Given the description of an element on the screen output the (x, y) to click on. 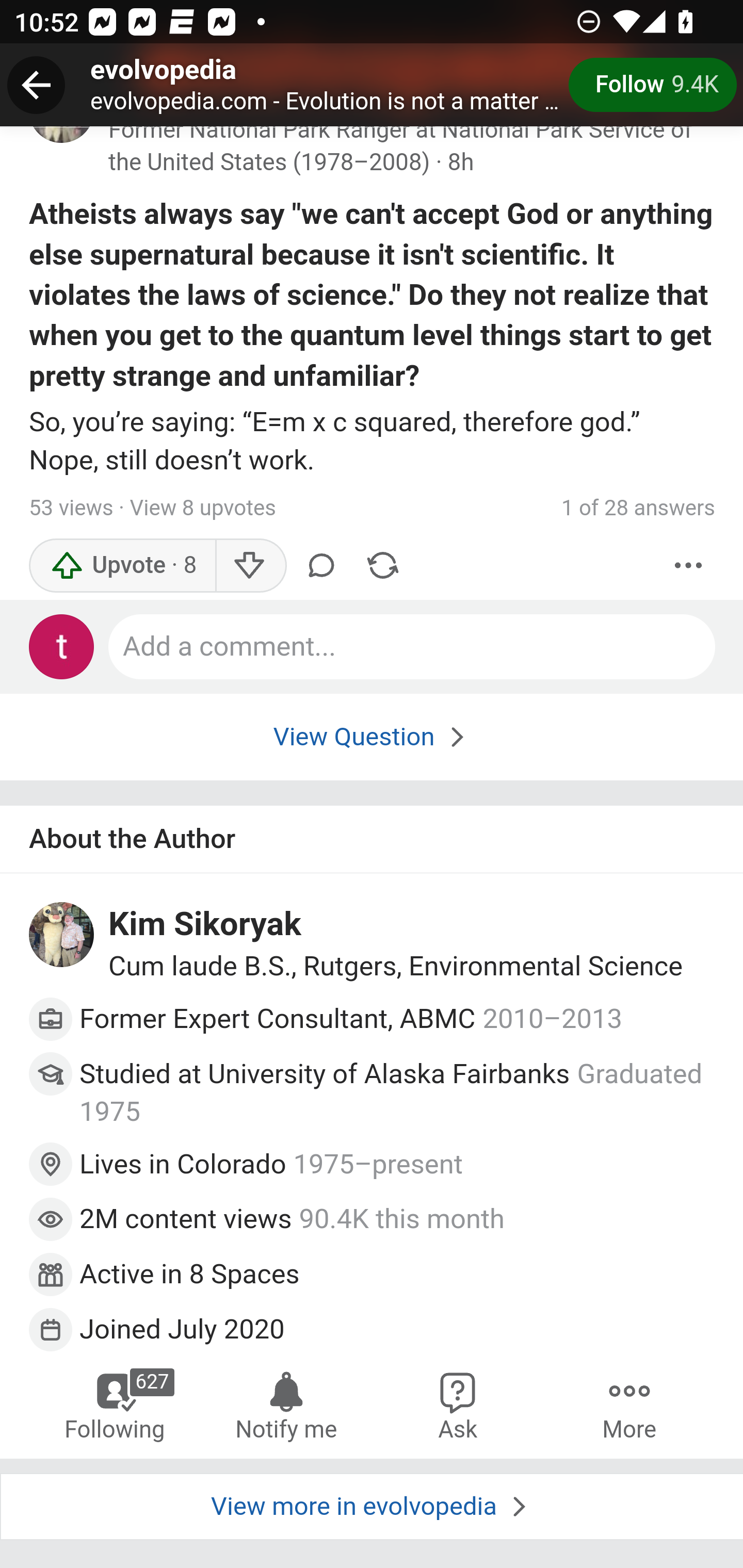
evolvopedia (164, 70)
Follow 9.4K (652, 85)
View 8 upvotes (201, 508)
1 of 28 answers (637, 508)
Upvote (122, 565)
Downvote (249, 565)
Comment (321, 565)
Share (382, 565)
More (688, 565)
Profile photo for Test Appium (61, 646)
Add a comment... (412, 646)
View Question (371, 736)
Profile photo for Kim Sikoryak (61, 936)
Kim Sikoryak (204, 926)
Following Kim Sikoryak 627 Following (115, 1404)
Notify me (285, 1404)
Ask (458, 1404)
More (628, 1404)
View more in evolvopedia (371, 1506)
